Given the description of an element on the screen output the (x, y) to click on. 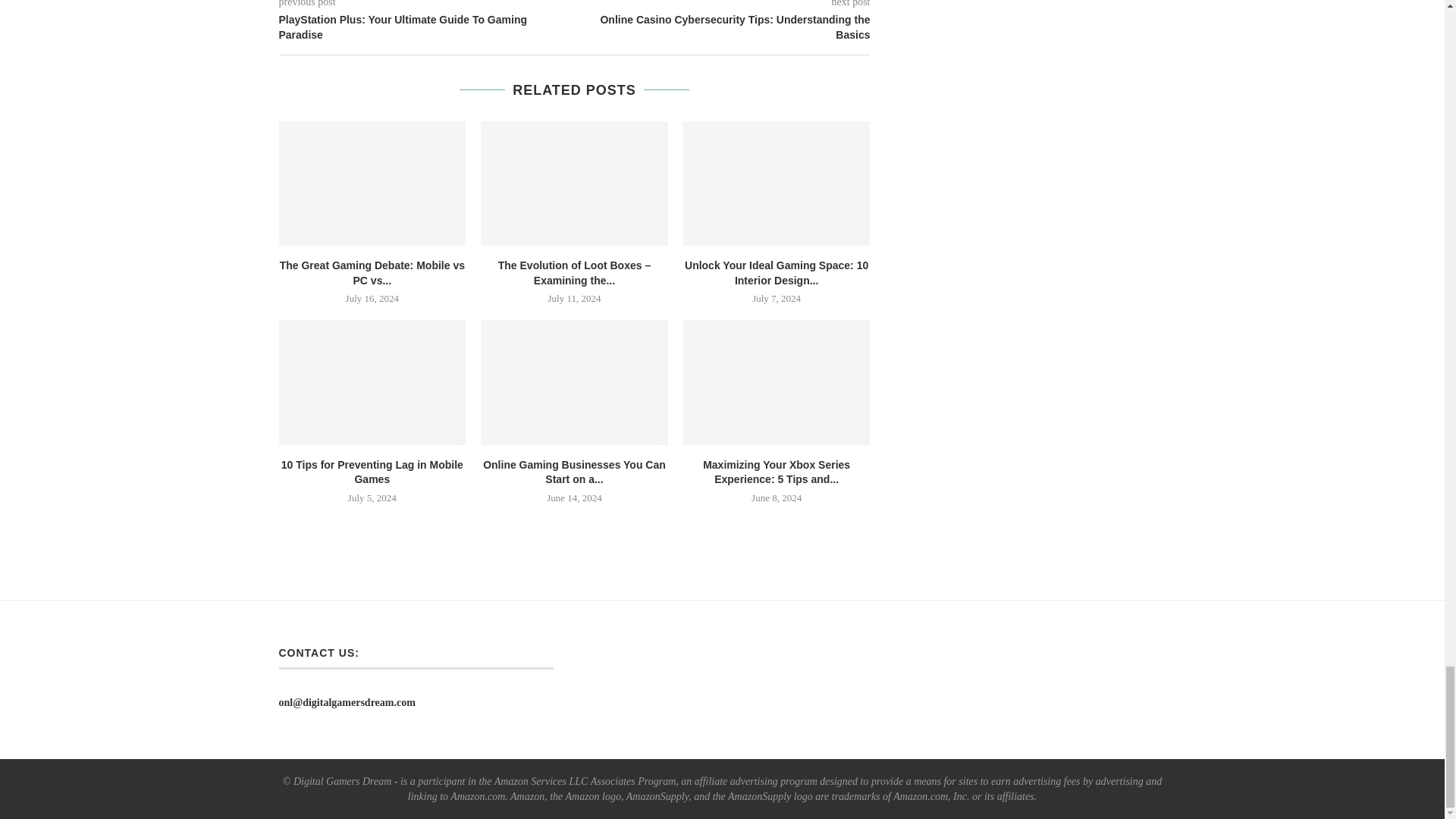
10 Tips for Preventing Lag in Mobile Games (372, 382)
Online Gaming Businesses You Can Start on a Budget (574, 382)
